Given the description of an element on the screen output the (x, y) to click on. 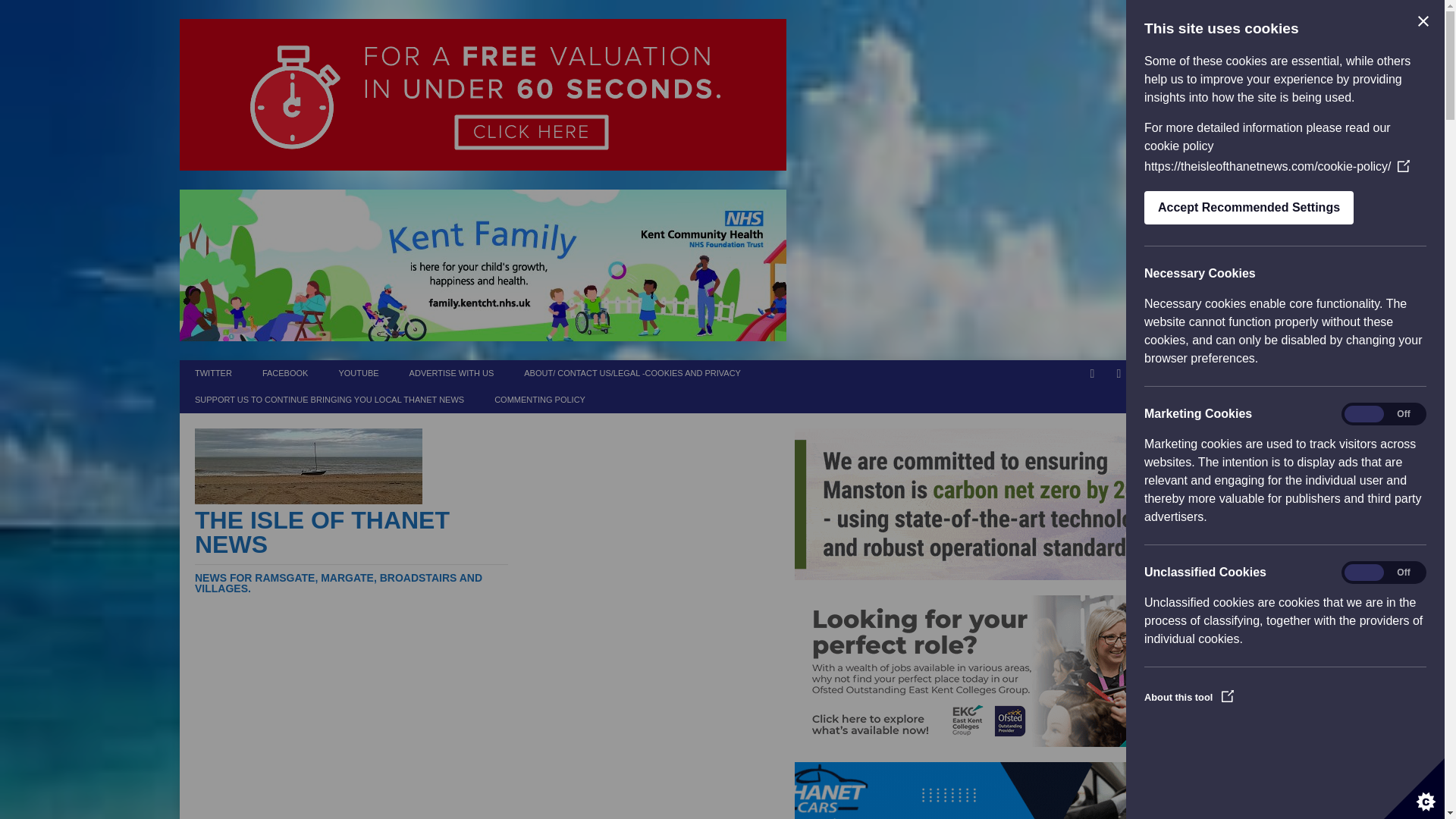
The Isle Of Thanet News (351, 550)
SUPPORT US TO CONTINUE BRINGING YOU LOCAL THANET NEWS (329, 399)
ADVERTISE WITH US (451, 373)
COMMENTING POLICY (539, 399)
YOUTUBE (358, 373)
FACEBOOK (285, 373)
TWITTER (213, 373)
